Given the description of an element on the screen output the (x, y) to click on. 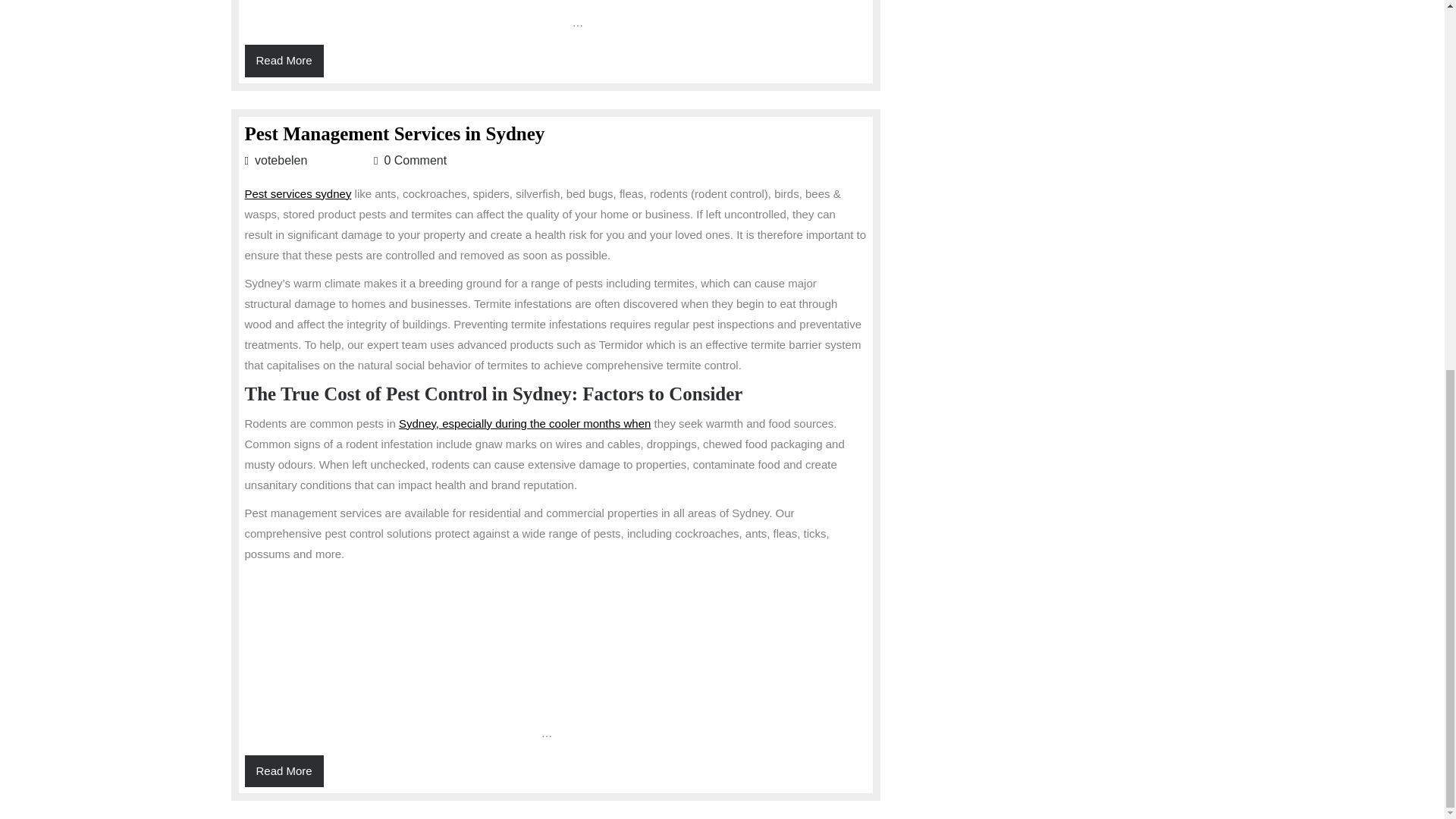
Pest services sydney (297, 193)
votebelenvotebelen (306, 160)
Sydney, especially during the cooler months when (283, 60)
Pest Management Services in Sydney (524, 422)
